Given the description of an element on the screen output the (x, y) to click on. 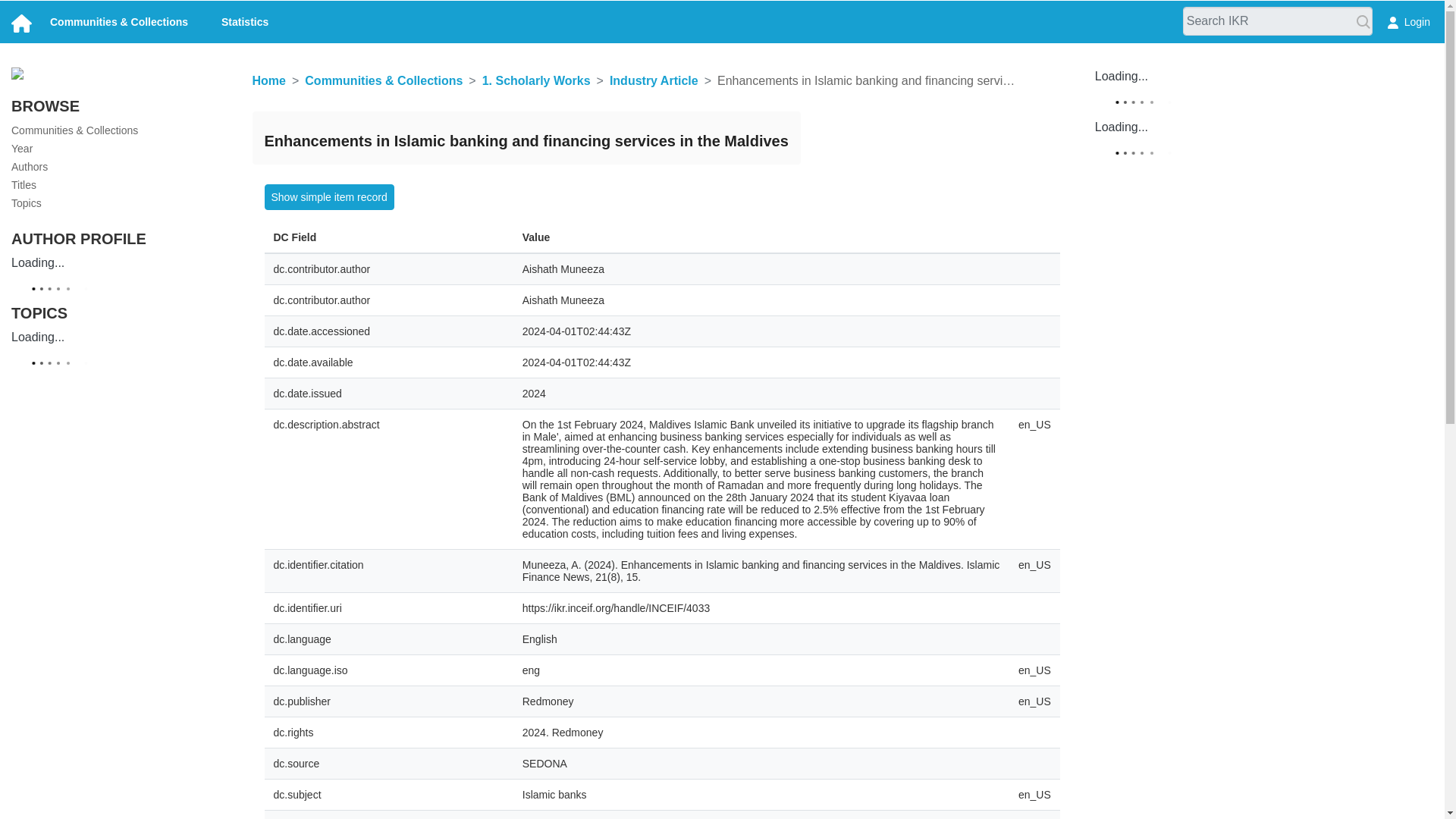
Titles (23, 184)
Show simple item record (328, 196)
1. Scholarly Works (536, 80)
Statistics (245, 21)
AUTHOR PROFILE (79, 238)
Authors (29, 166)
Search IKR (1363, 22)
Industry Article (654, 80)
Statistics (245, 21)
Year (21, 148)
Topics (26, 203)
Home (268, 80)
TOPICS (38, 312)
Login (1408, 21)
